Given the description of an element on the screen output the (x, y) to click on. 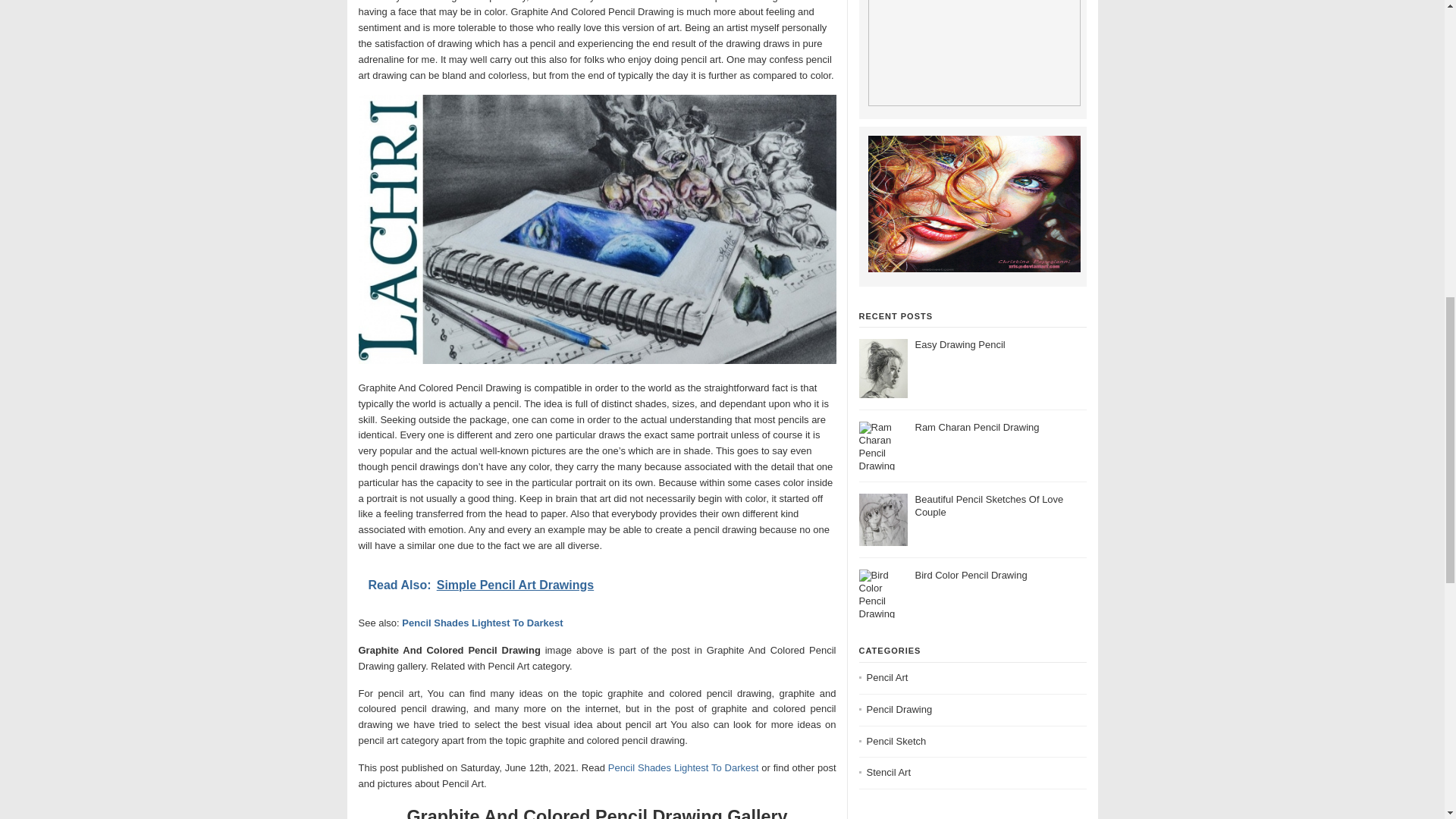
Pencil Shades Lightest To Darkest (481, 622)
Pencil Shades Lightest To Darkest (683, 767)
Read Also:  Simple Pencil Art Drawings (596, 585)
